Given the description of an element on the screen output the (x, y) to click on. 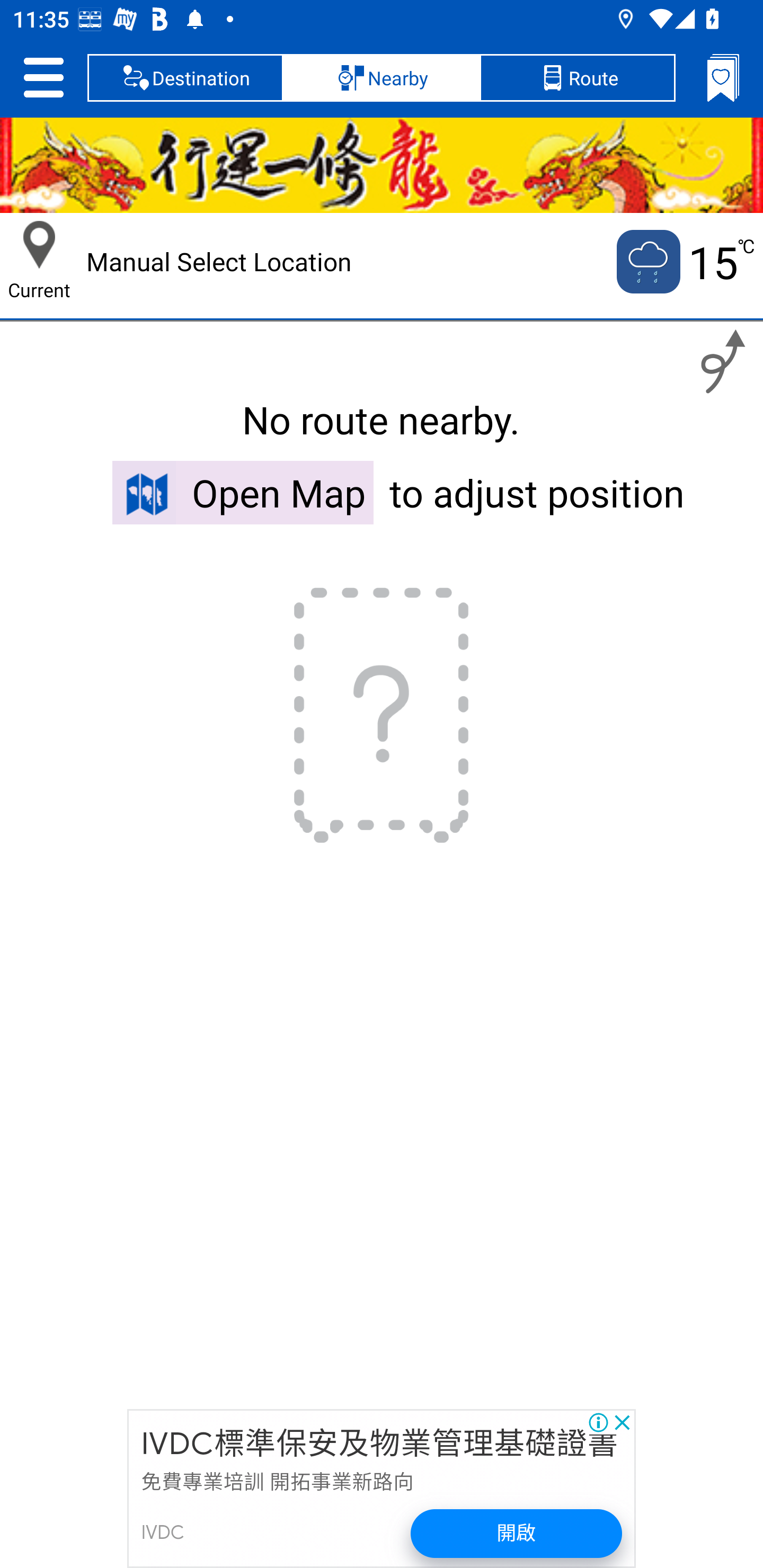
Destination (185, 77)
Nearby, selected (381, 77)
Route (577, 77)
Bookmarks (723, 77)
Setting (43, 77)
Lunar New Year 2024 (381, 165)
Current Location (38, 244)
Current temputure is  15  no 15 ℃ (684, 261)
Open Map (242, 491)
IVDC標準保安及物業管理基礎證書 (379, 1444)
免費專業培訓 開拓事業新路向 (277, 1482)
開啟 (516, 1532)
IVDC (162, 1533)
